Given the description of an element on the screen output the (x, y) to click on. 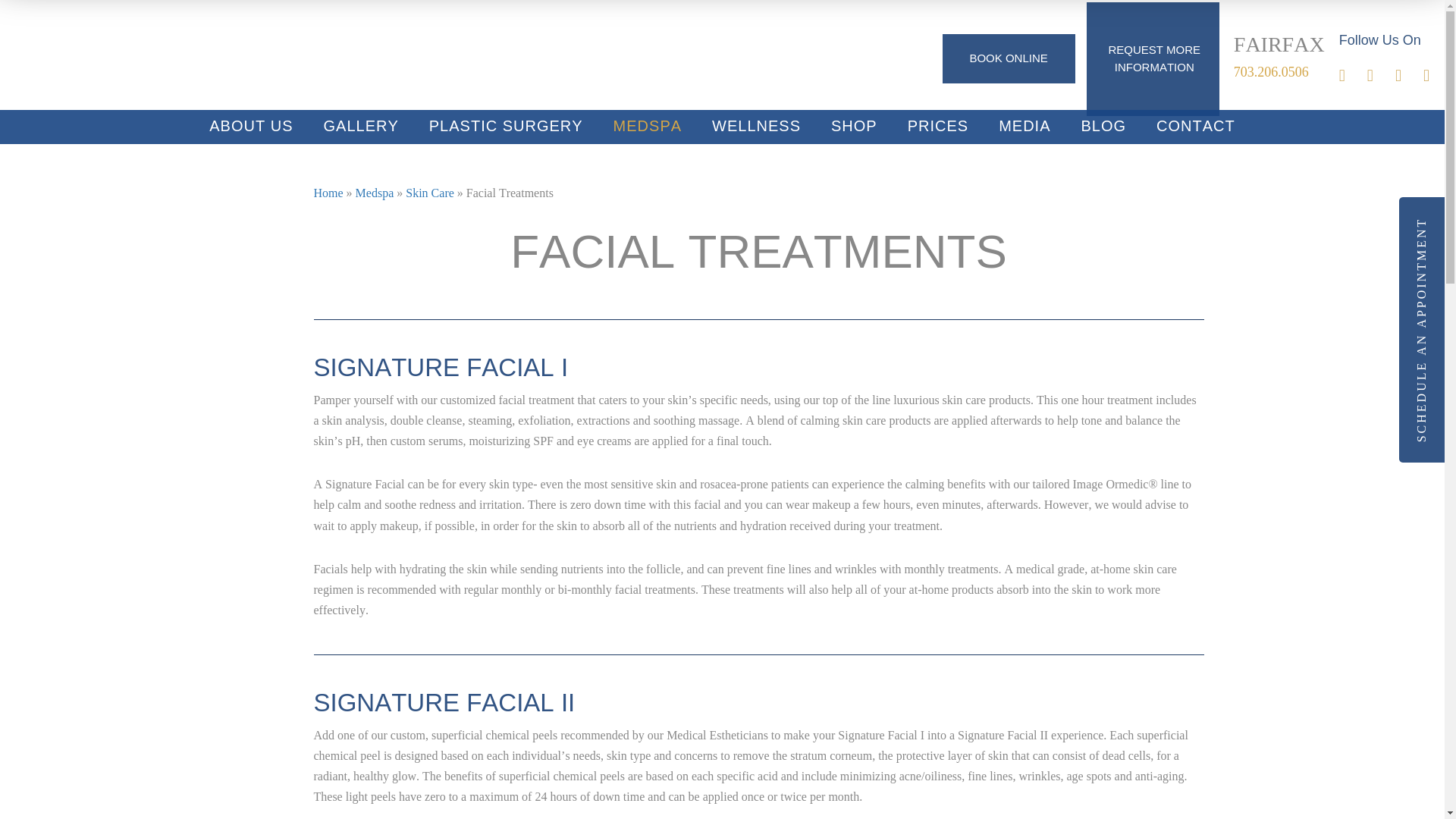
facebook (1353, 76)
Bitar Cosmetic Surgery Institute (128, 56)
youtube (1408, 76)
instagram (1380, 76)
